Given the description of an element on the screen output the (x, y) to click on. 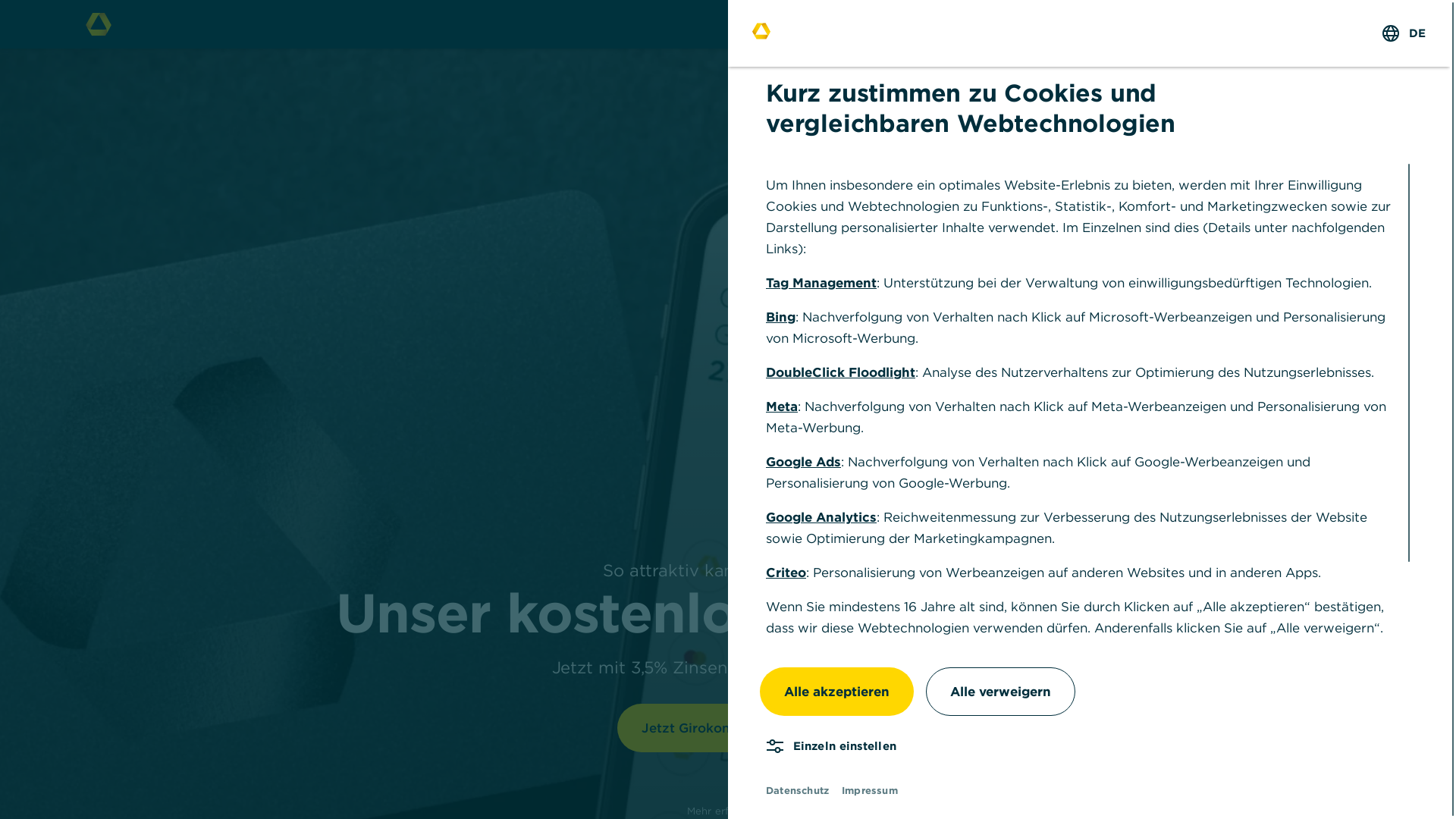
Criteo Element type: text (785, 572)
Datenschutz Element type: text (796, 790)
Datenschutz Element type: text (1074, 704)
DE Element type: text (1403, 33)
Google Ads Element type: text (802, 461)
Tag Management Element type: text (820, 282)
Google Analytics Element type: text (820, 516)
Impressum Element type: text (1217, 704)
Alle verweigern Element type: text (1000, 691)
Einzeln einstellen Element type: text (830, 746)
Commerzbank Logo Desktop Element type: hover (97, 23)
Login Element type: text (1287, 24)
Bing Element type: text (780, 316)
Suche Element type: text (1223, 24)
Impressum Element type: text (869, 790)
Meta Element type: text (781, 406)
DoubleClick Floodlight Element type: text (840, 372)
Alle akzeptieren Element type: text (836, 691)
Open Menu Element type: text (1349, 24)
